Given the description of an element on the screen output the (x, y) to click on. 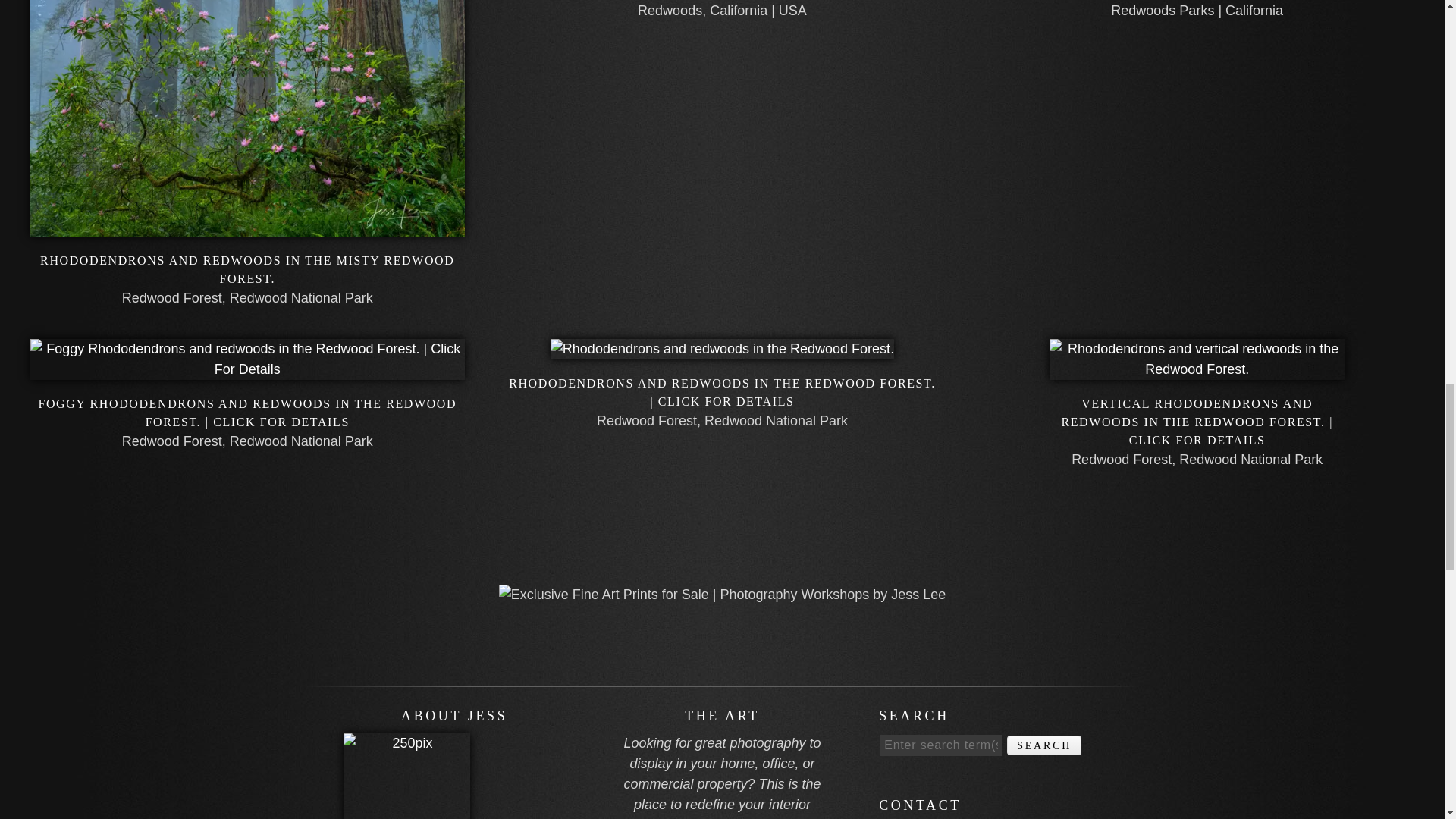
RHODODENDRONS AND REDWOODS IN THE MISTY REDWOOD FOREST. (247, 269)
Rhododendrons and redwoods in the misty Redwood Forest. (247, 269)
Rhododendrons and redwoods in the misty Redwood Forest. (247, 225)
